Given the description of an element on the screen output the (x, y) to click on. 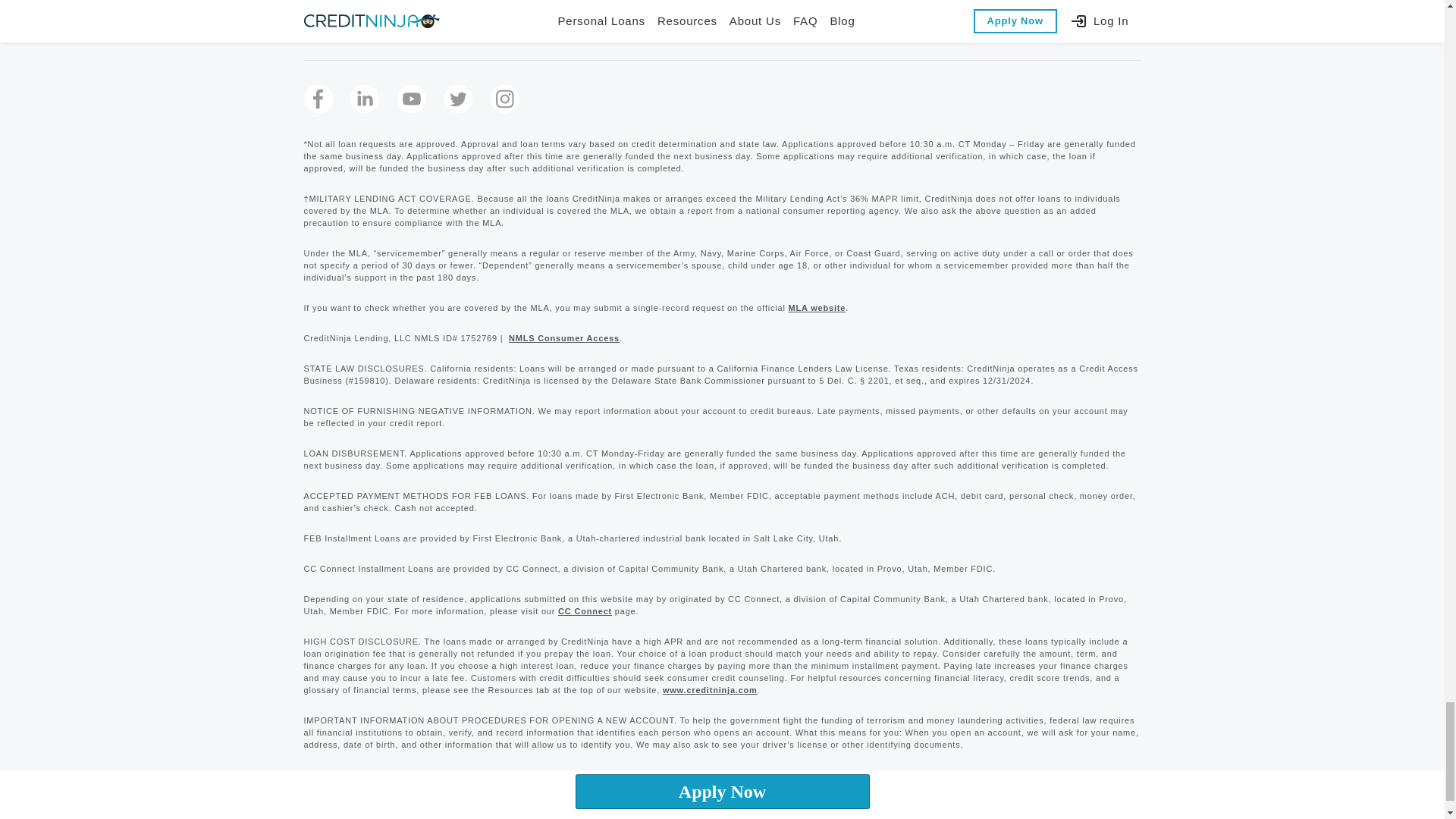
LinkedIn (364, 99)
Twitter (457, 99)
YouTube (411, 99)
Facebook (316, 99)
Instagram (503, 99)
